Given the description of an element on the screen output the (x, y) to click on. 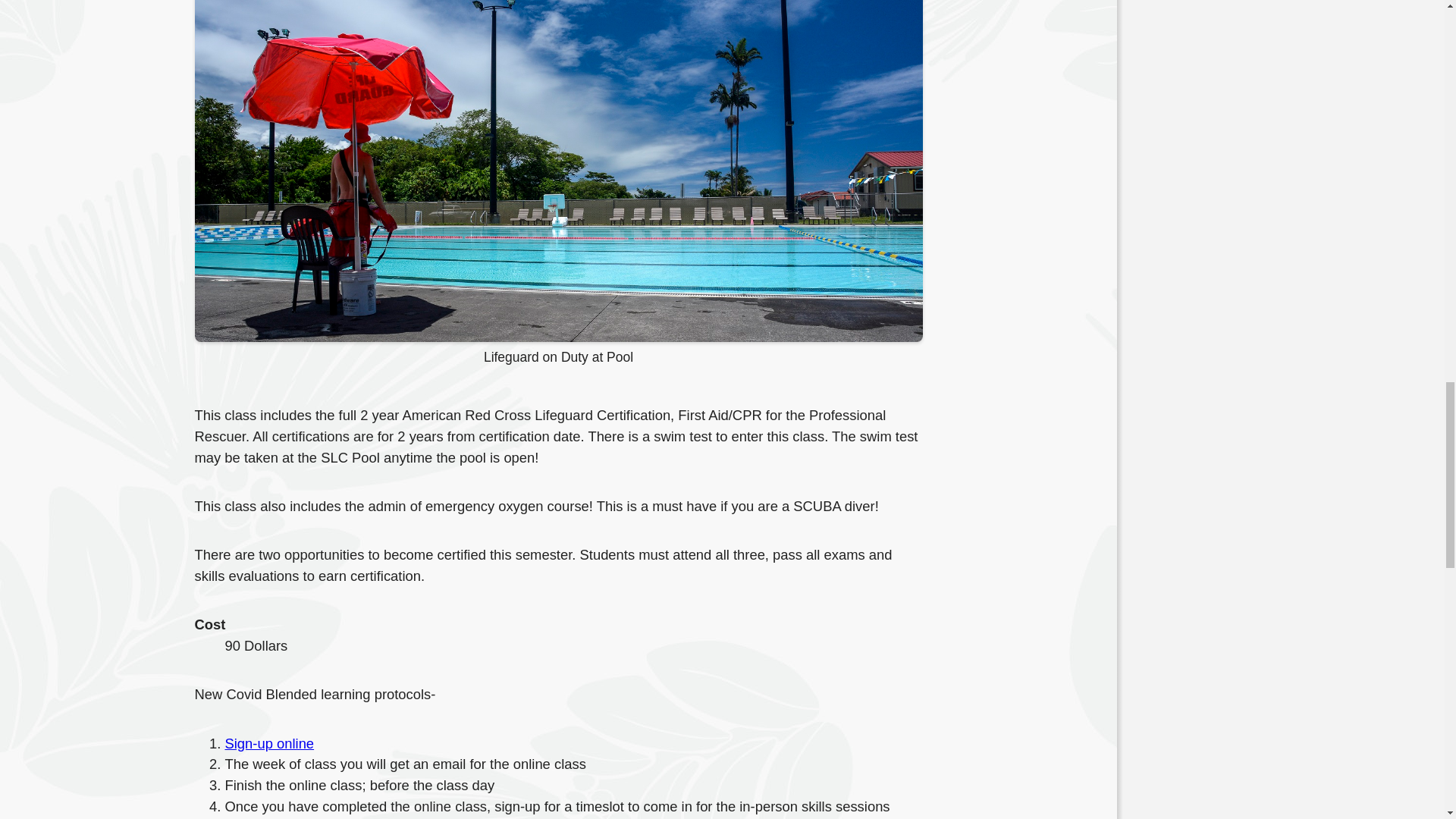
Sign-up online (269, 743)
